Given the description of an element on the screen output the (x, y) to click on. 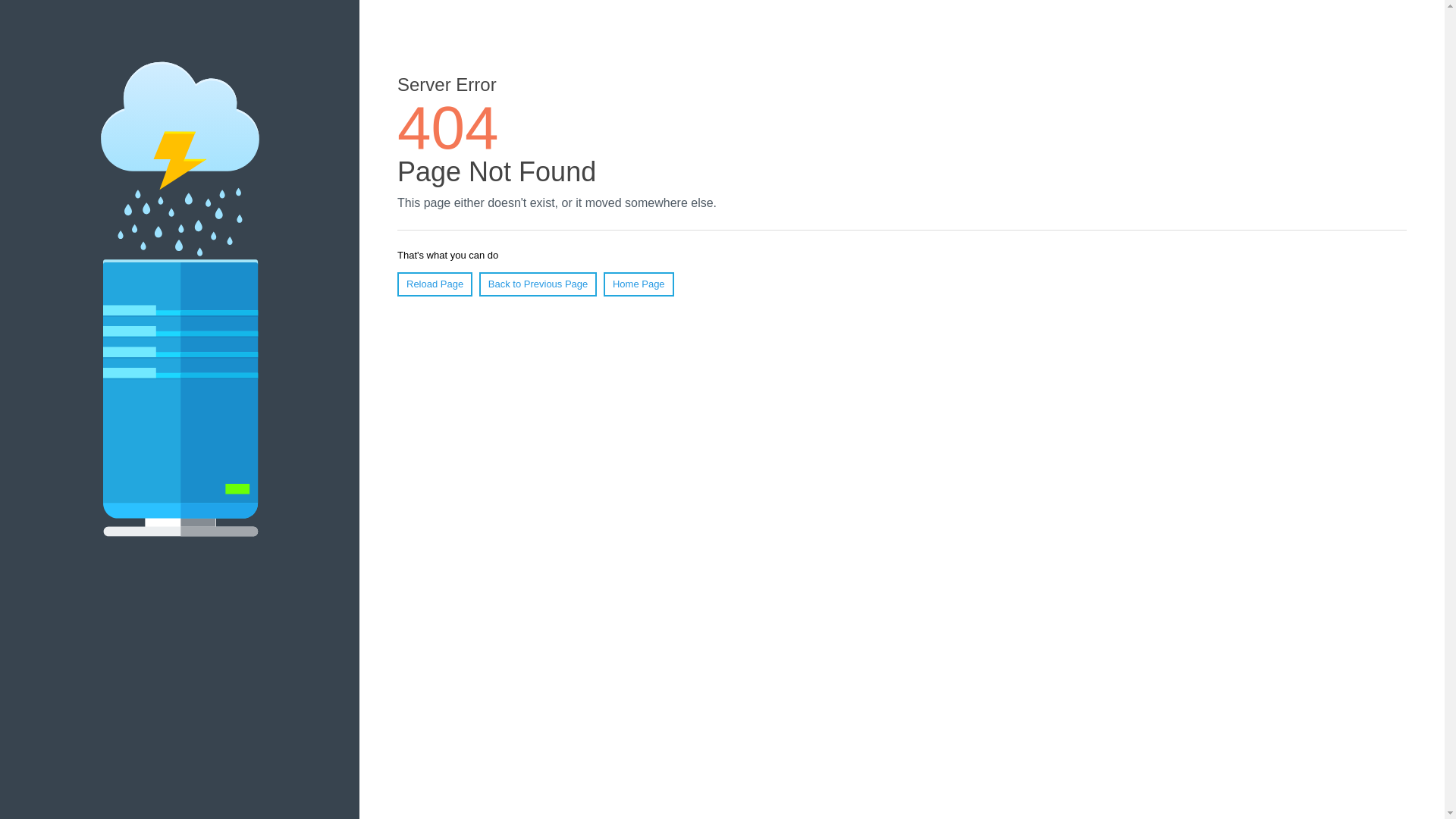
Back to Previous Page Element type: text (538, 284)
Reload Page Element type: text (434, 284)
Home Page Element type: text (638, 284)
